Given the description of an element on the screen output the (x, y) to click on. 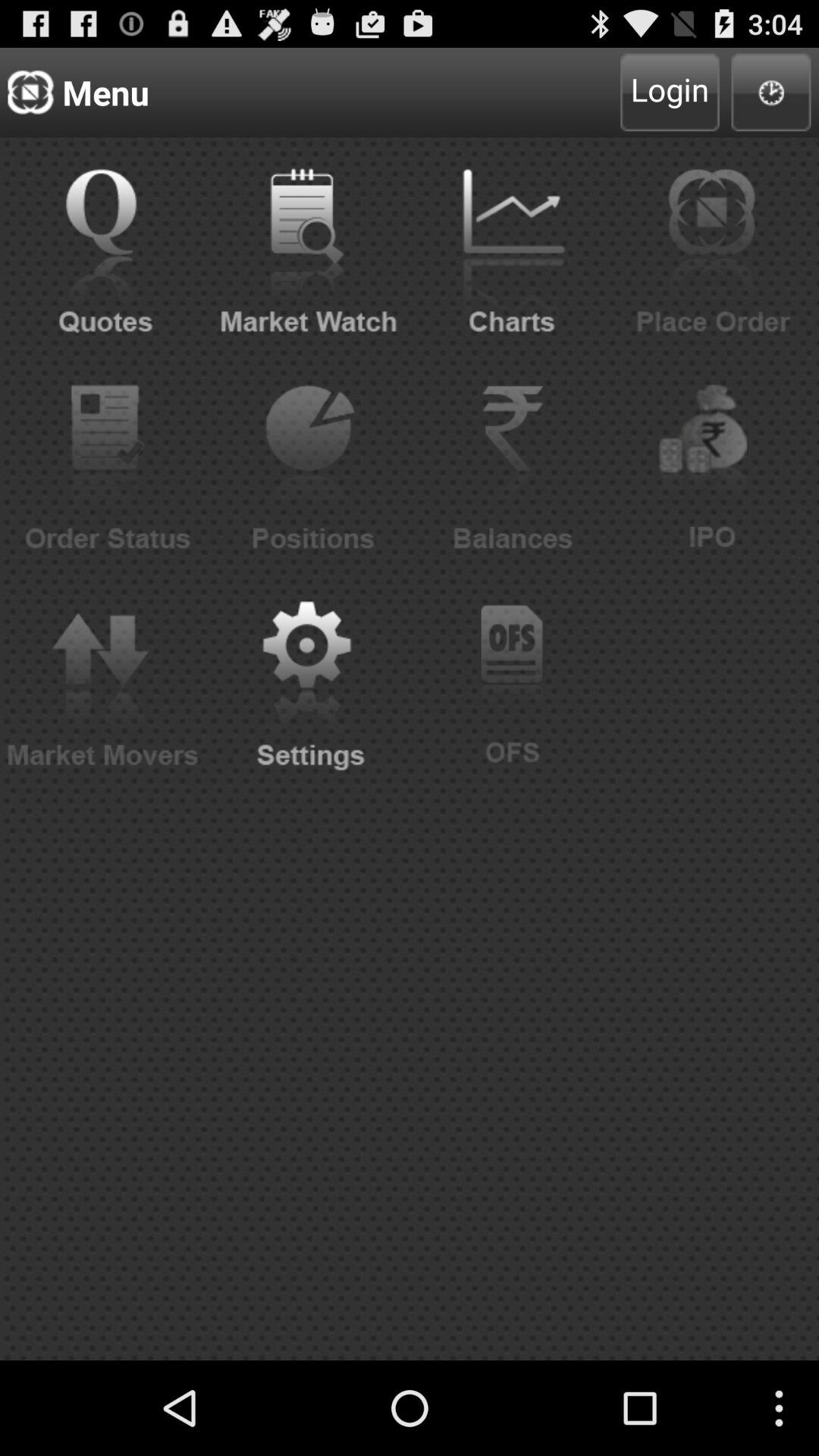
analog time (771, 92)
